Given the description of an element on the screen output the (x, y) to click on. 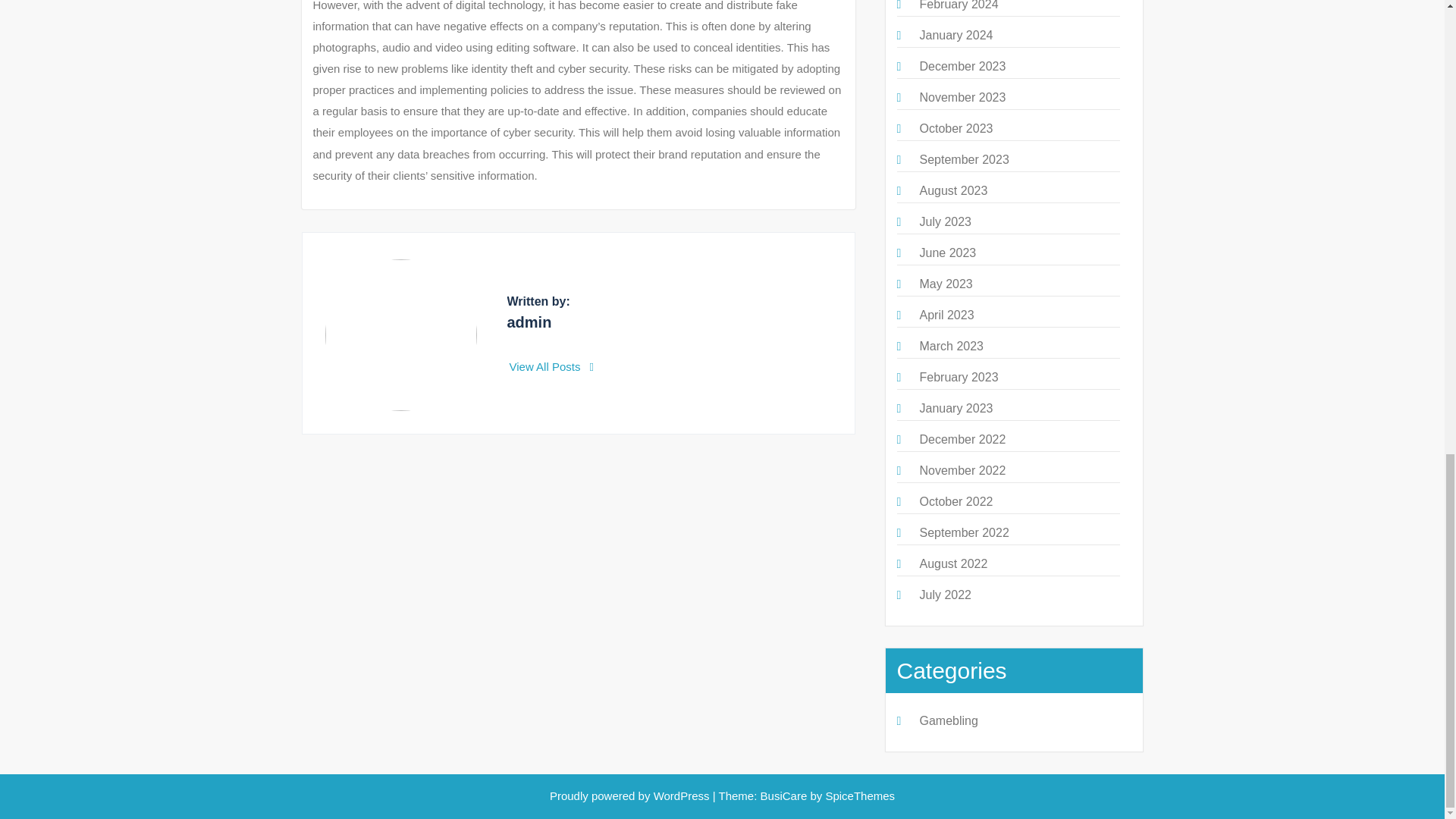
February 2024 (957, 5)
January 2023 (955, 408)
December 2023 (962, 65)
March 2023 (951, 345)
June 2023 (946, 252)
August 2022 (952, 563)
View All Posts (551, 366)
July 2022 (944, 594)
September 2022 (963, 532)
December 2022 (962, 439)
